Given the description of an element on the screen output the (x, y) to click on. 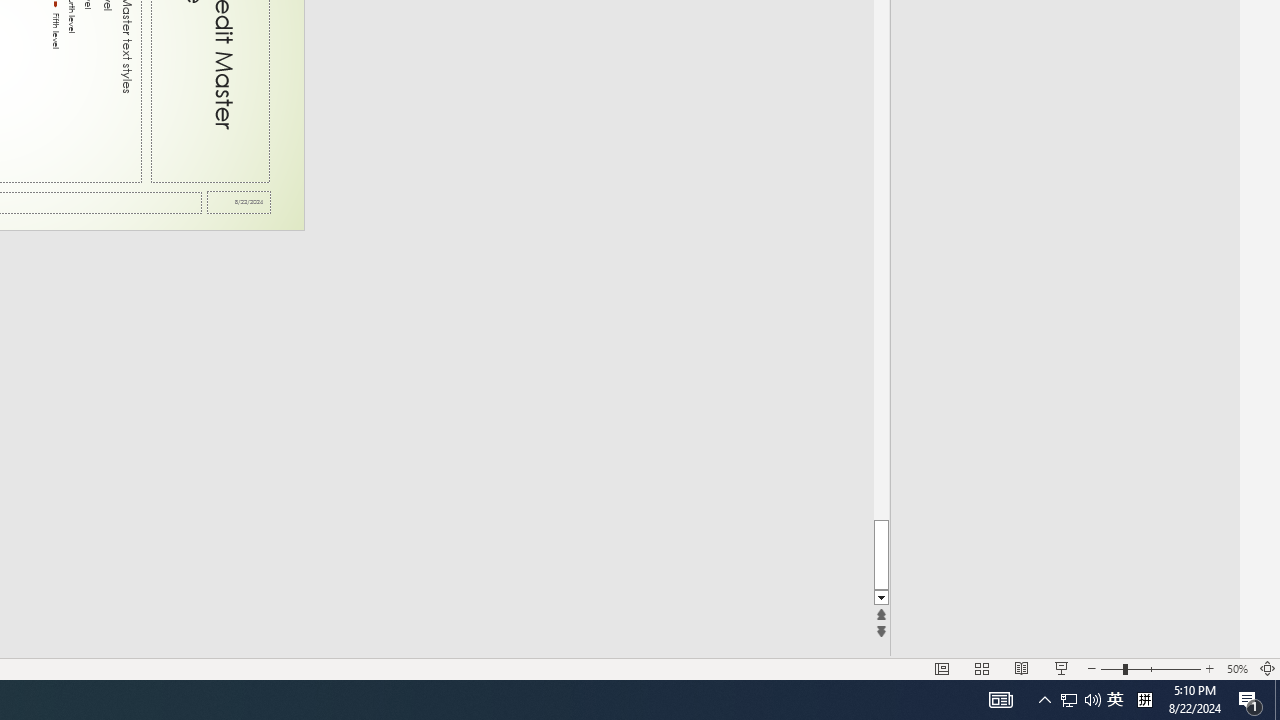
Zoom 50% (1236, 668)
Date (239, 201)
